Given the description of an element on the screen output the (x, y) to click on. 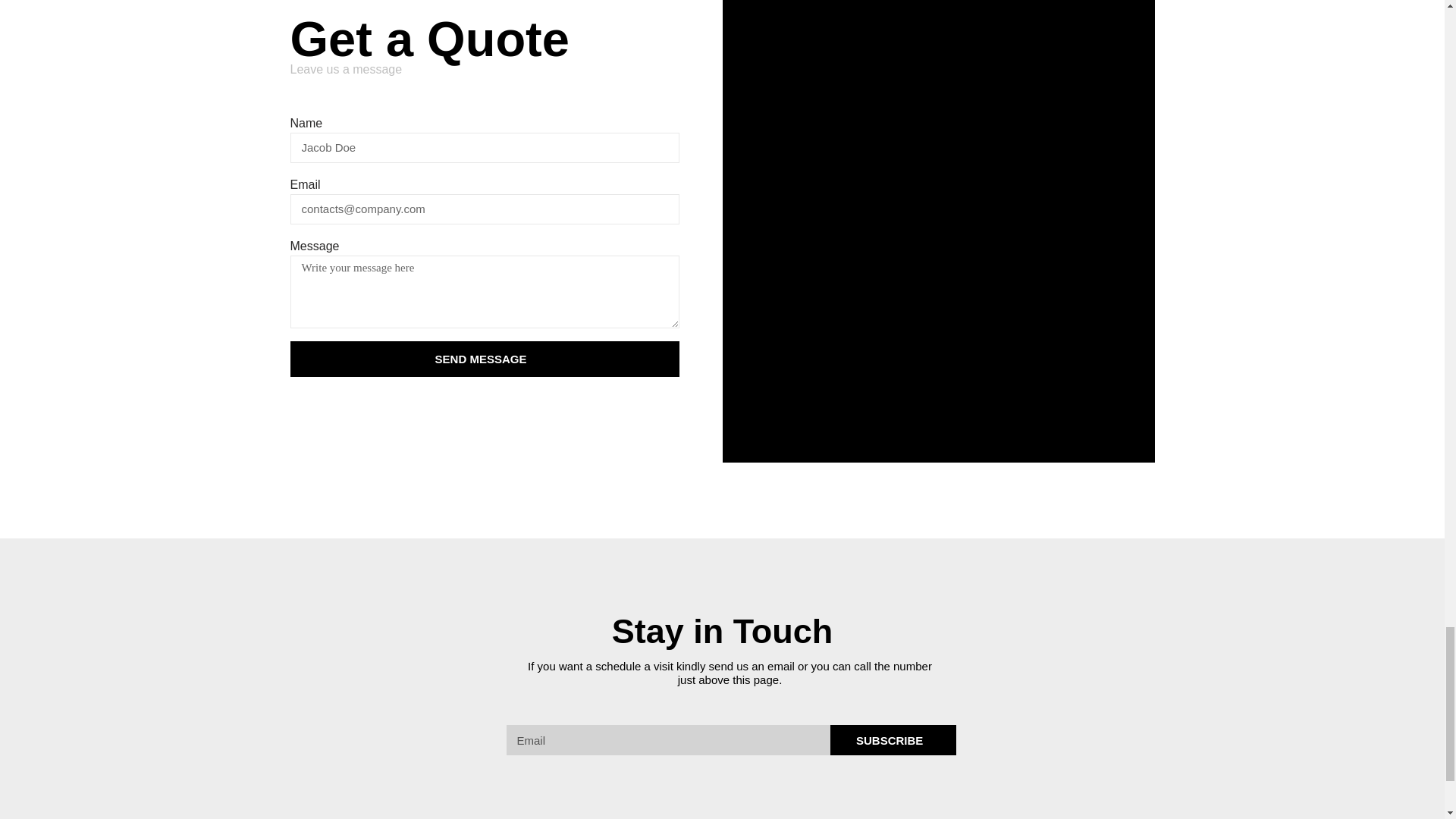
SUBSCRIBE (892, 739)
SEND MESSAGE (483, 358)
